Given the description of an element on the screen output the (x, y) to click on. 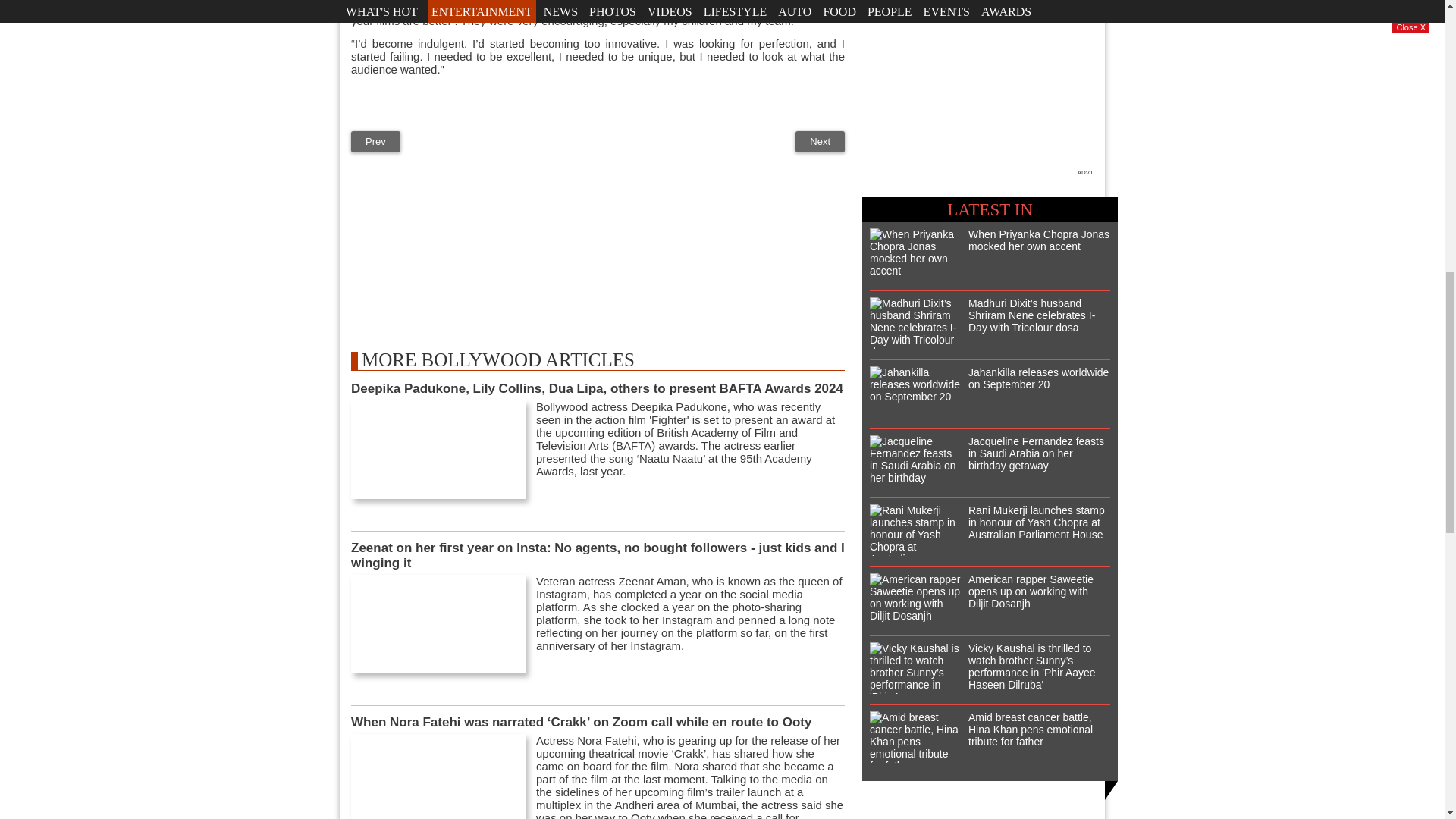
Prev (375, 141)
Next (819, 141)
